Given the description of an element on the screen output the (x, y) to click on. 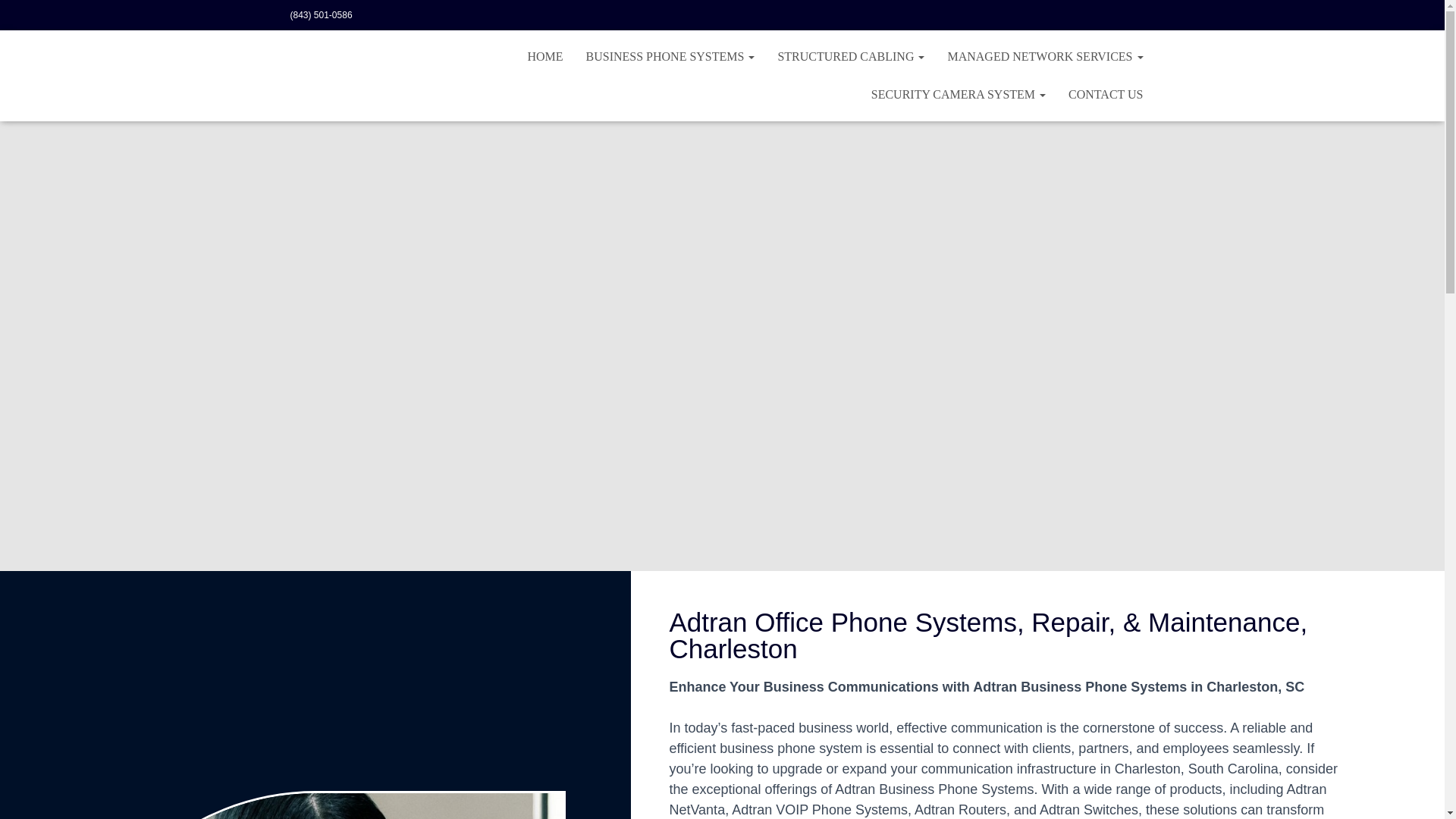
BUSINESS PHONE SYSTEMS (671, 56)
HOME (544, 56)
BUSINESS PHONE SYSTEMS (671, 56)
STRUCTURED CABLING (850, 56)
CONTACT US (1105, 94)
SECURITY CAMERA SYSTEM (958, 94)
Home (544, 56)
MANAGED NETWORK SERVICES (1045, 56)
